Given the description of an element on the screen output the (x, y) to click on. 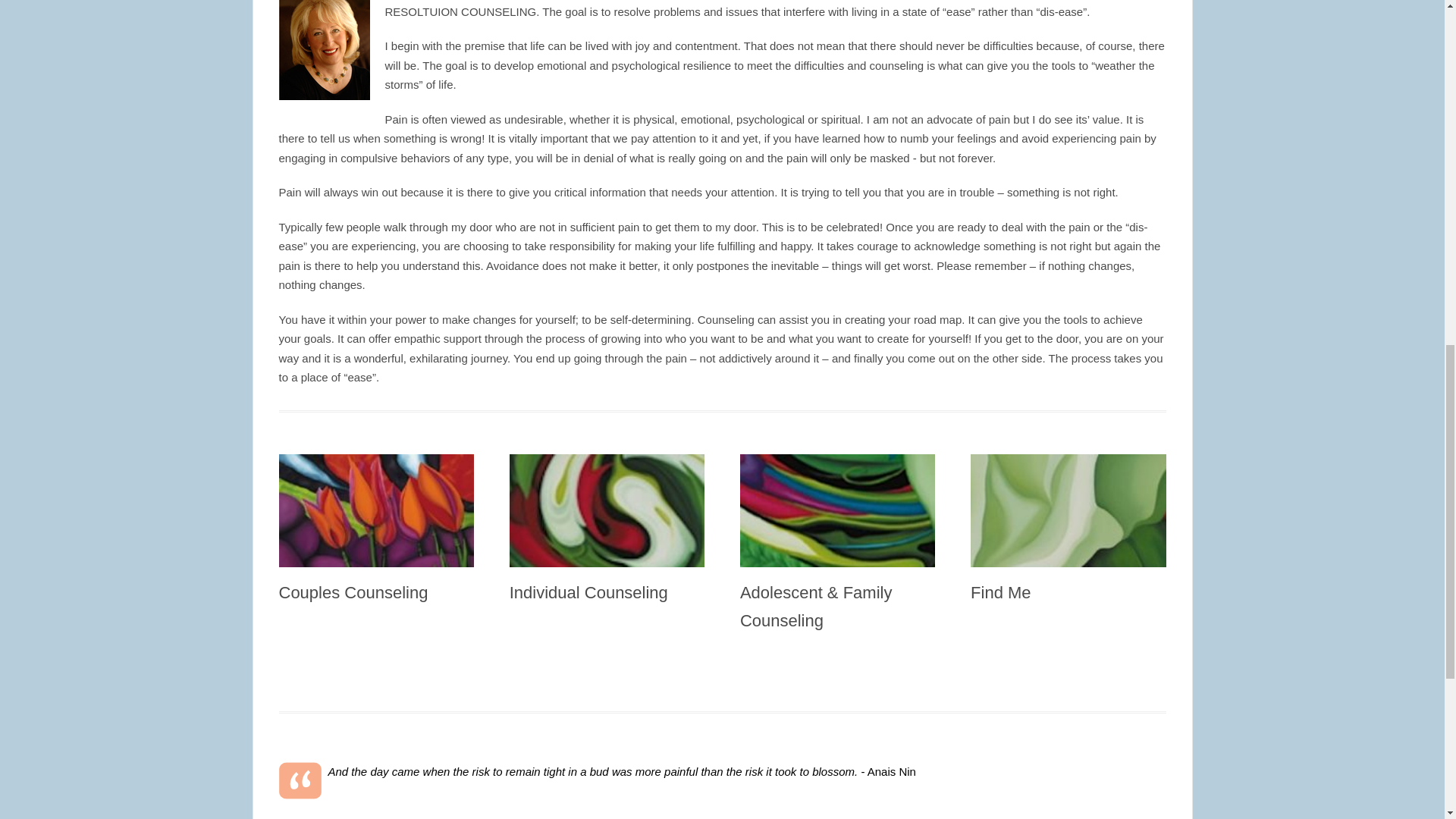
Find Me (1000, 592)
Couples Counseling (353, 592)
Individual Counseling (588, 592)
